Given the description of an element on the screen output the (x, y) to click on. 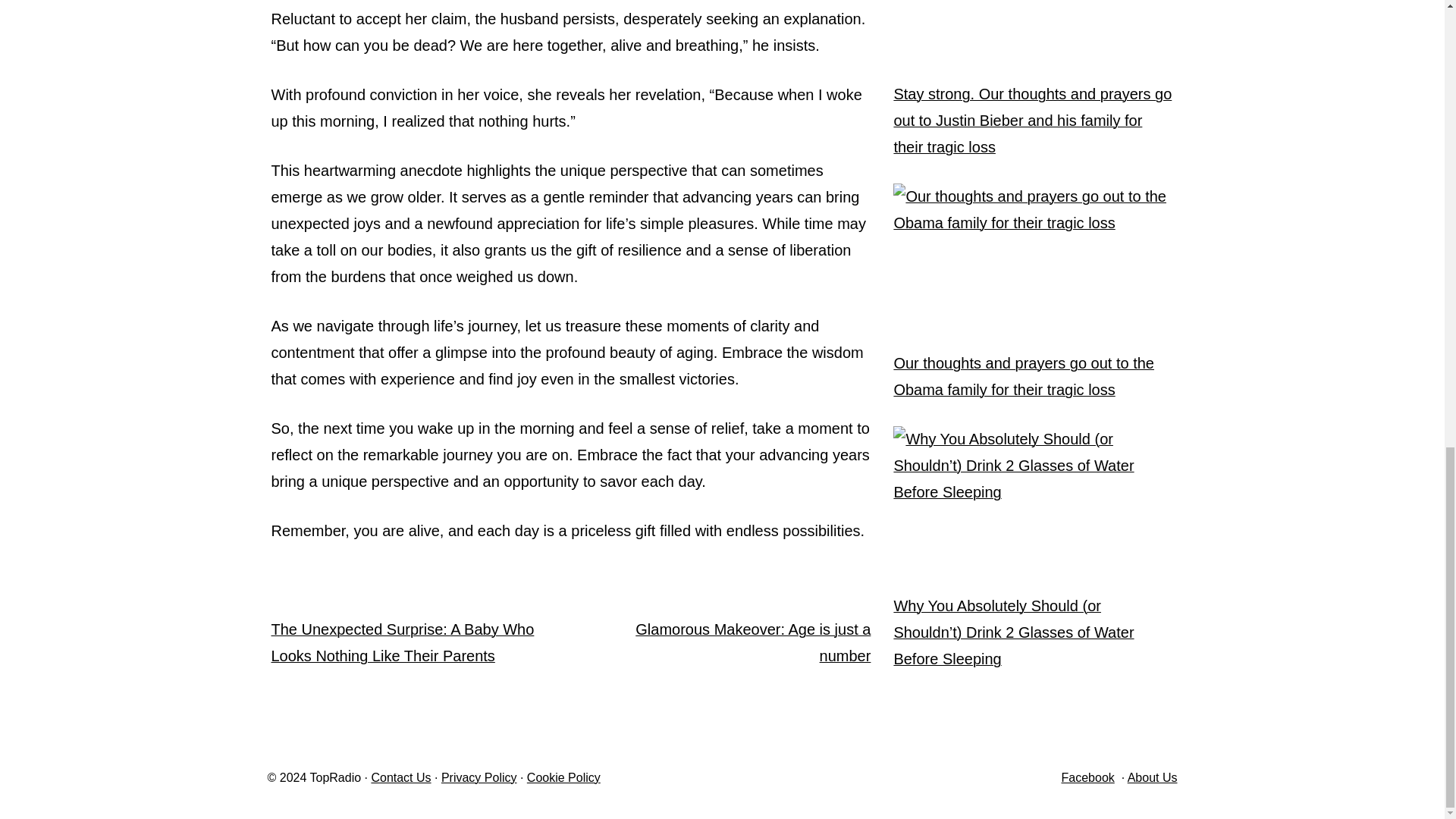
Contact Us (400, 777)
Privacy Policy (478, 777)
About Us (1151, 777)
Facebook (1088, 777)
Glamorous Makeover: Age is just a number (752, 642)
Cookie Policy (563, 777)
